Given the description of an element on the screen output the (x, y) to click on. 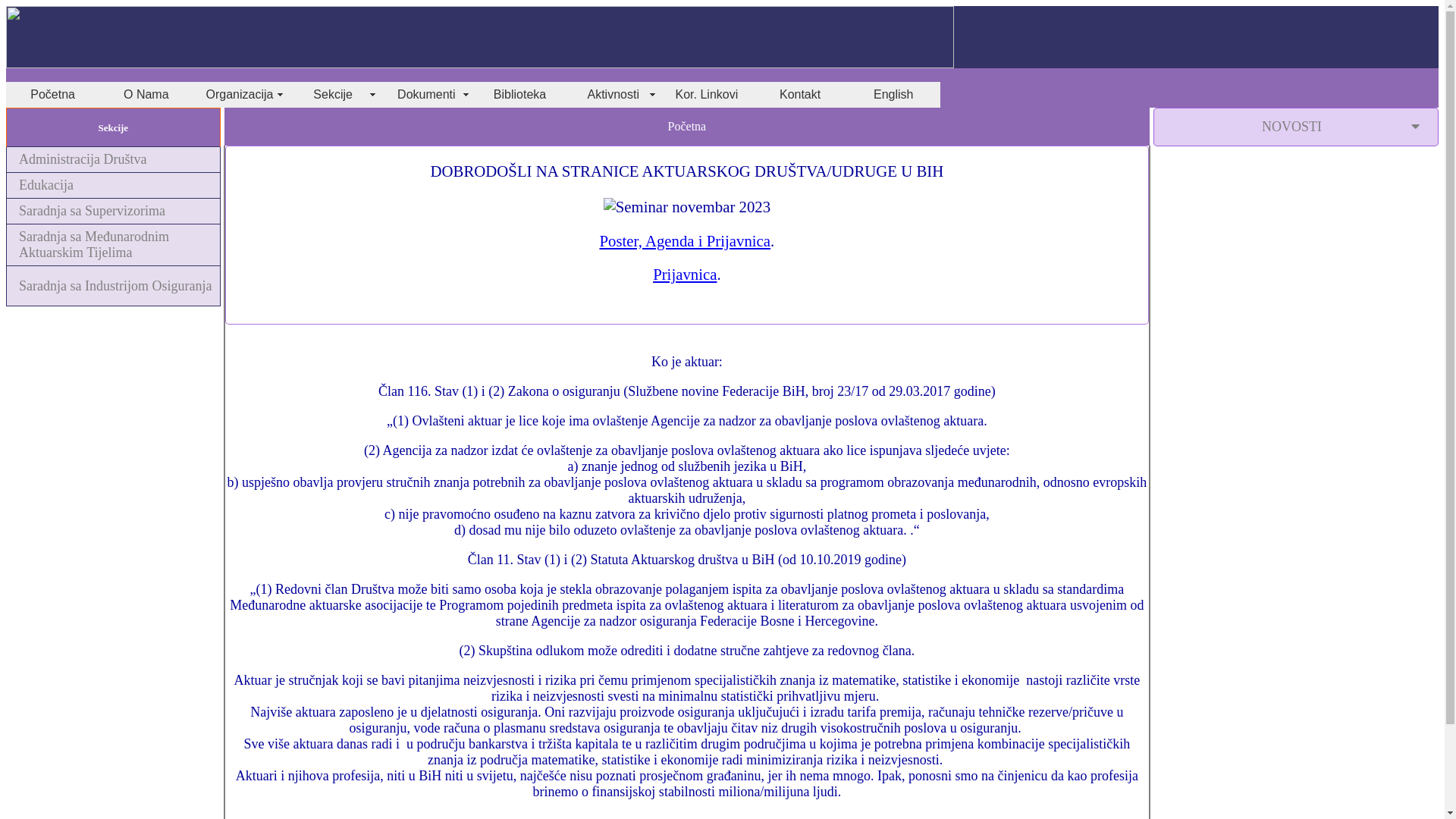
Aktivnosti Element type: text (612, 94)
Kontakt Element type: text (800, 94)
Saradnja sa Industrijom Osiguranja Element type: text (112, 285)
Kor. Linkovi Element type: text (706, 94)
O Nama Element type: text (145, 94)
Dokumenti Element type: text (426, 94)
Biblioteka Element type: text (519, 94)
Organizacija Element type: text (238, 94)
English Element type: text (893, 94)
Poster, Agenda i Prijavnica Element type: text (684, 240)
Prijavnica Element type: text (684, 273)
Sekcije Element type: text (332, 94)
Edukacija Element type: text (112, 184)
Saradnja sa Supervizorima Element type: text (112, 210)
